Given the description of an element on the screen output the (x, y) to click on. 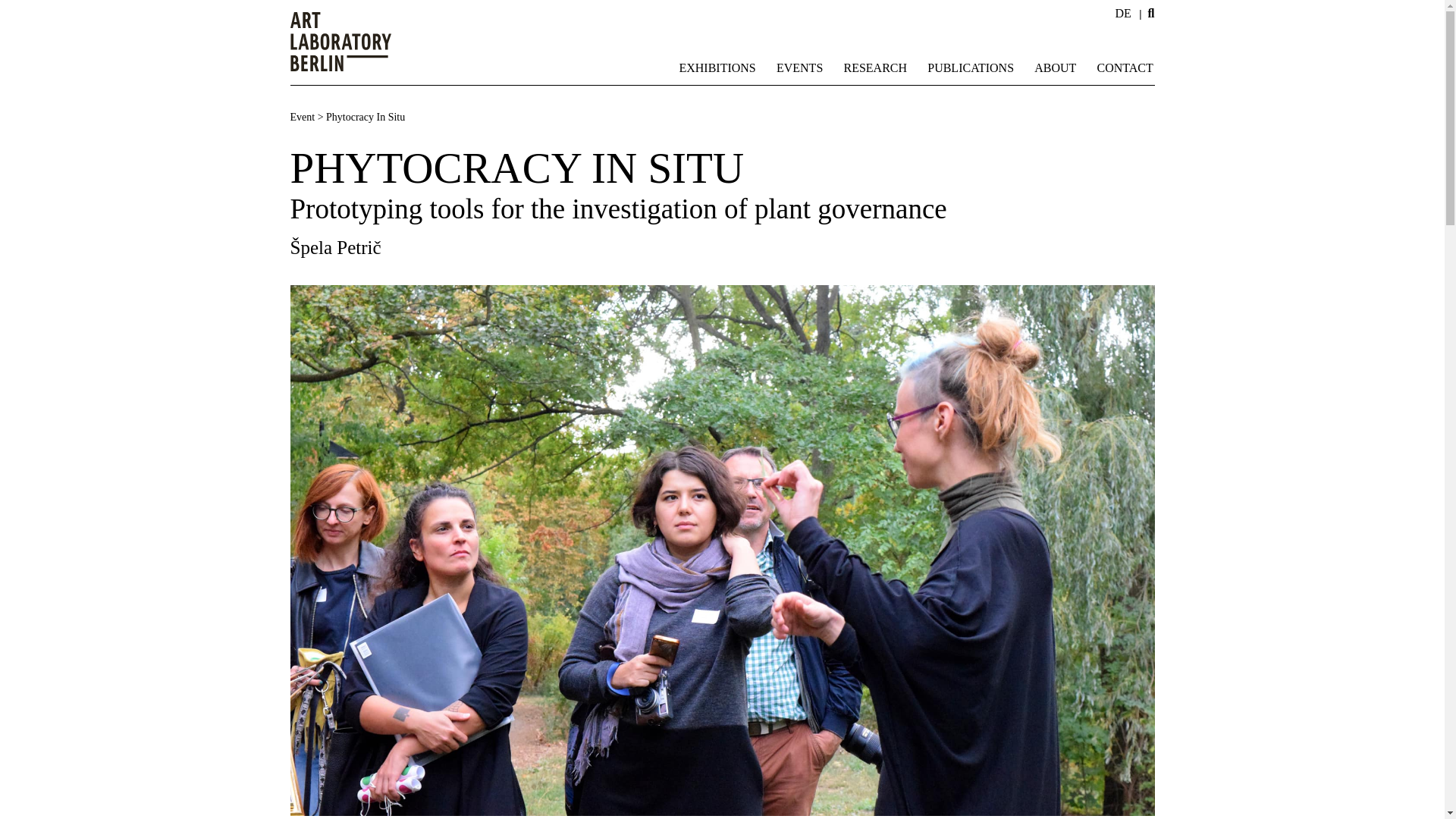
EVENTS (798, 67)
ABOUT (1055, 67)
PUBLICATIONS (971, 67)
EXHIBITIONS (717, 67)
CONTACT (1124, 67)
RESEARCH (874, 67)
